Given the description of an element on the screen output the (x, y) to click on. 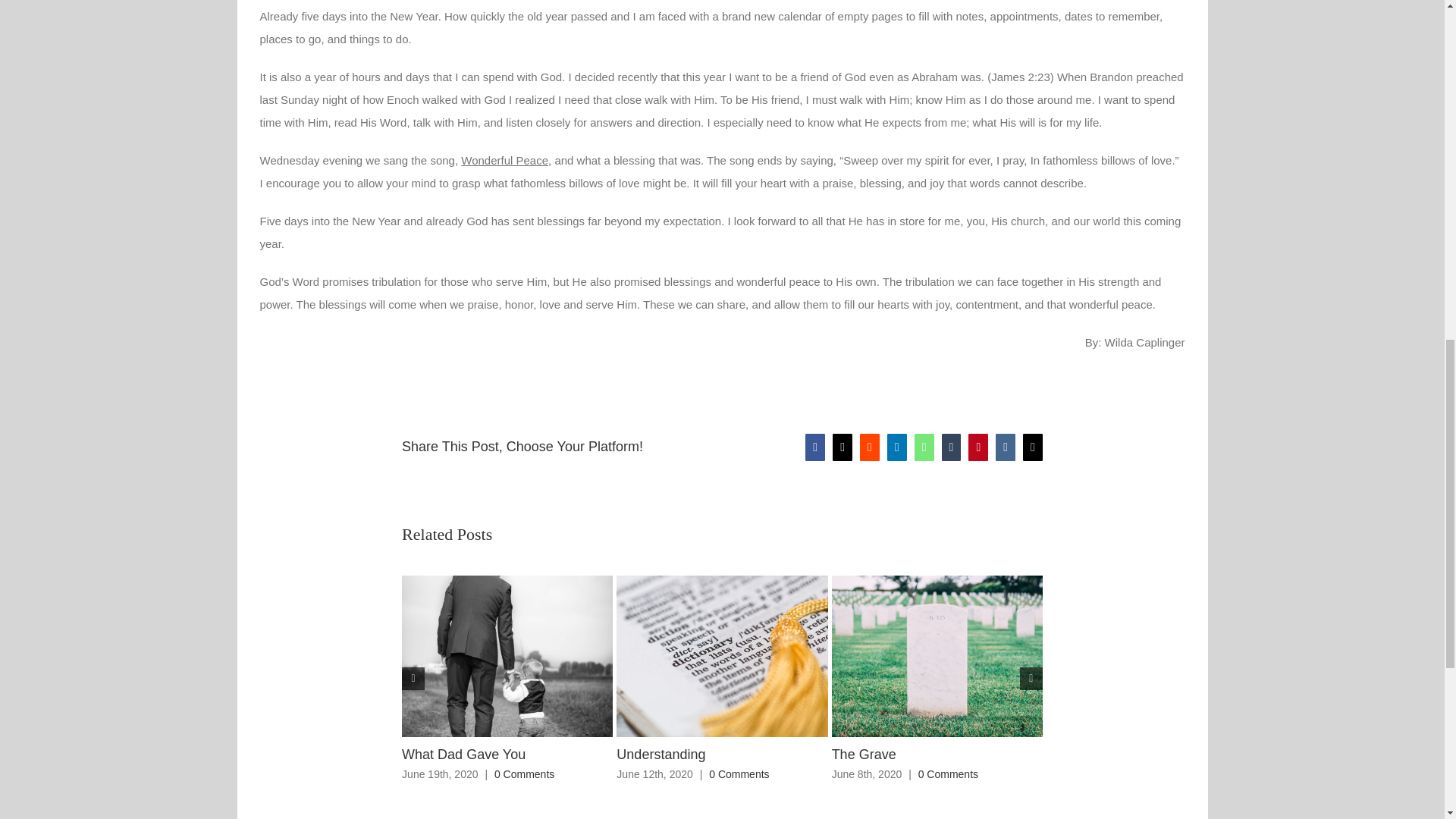
What Dad Gave You (463, 754)
Understanding (659, 754)
The Grave (863, 754)
The Grave (863, 754)
Understanding (659, 754)
What Dad Gave You (463, 754)
0 Comments (524, 774)
0 Comments (948, 774)
0 Comments (738, 774)
